Given the description of an element on the screen output the (x, y) to click on. 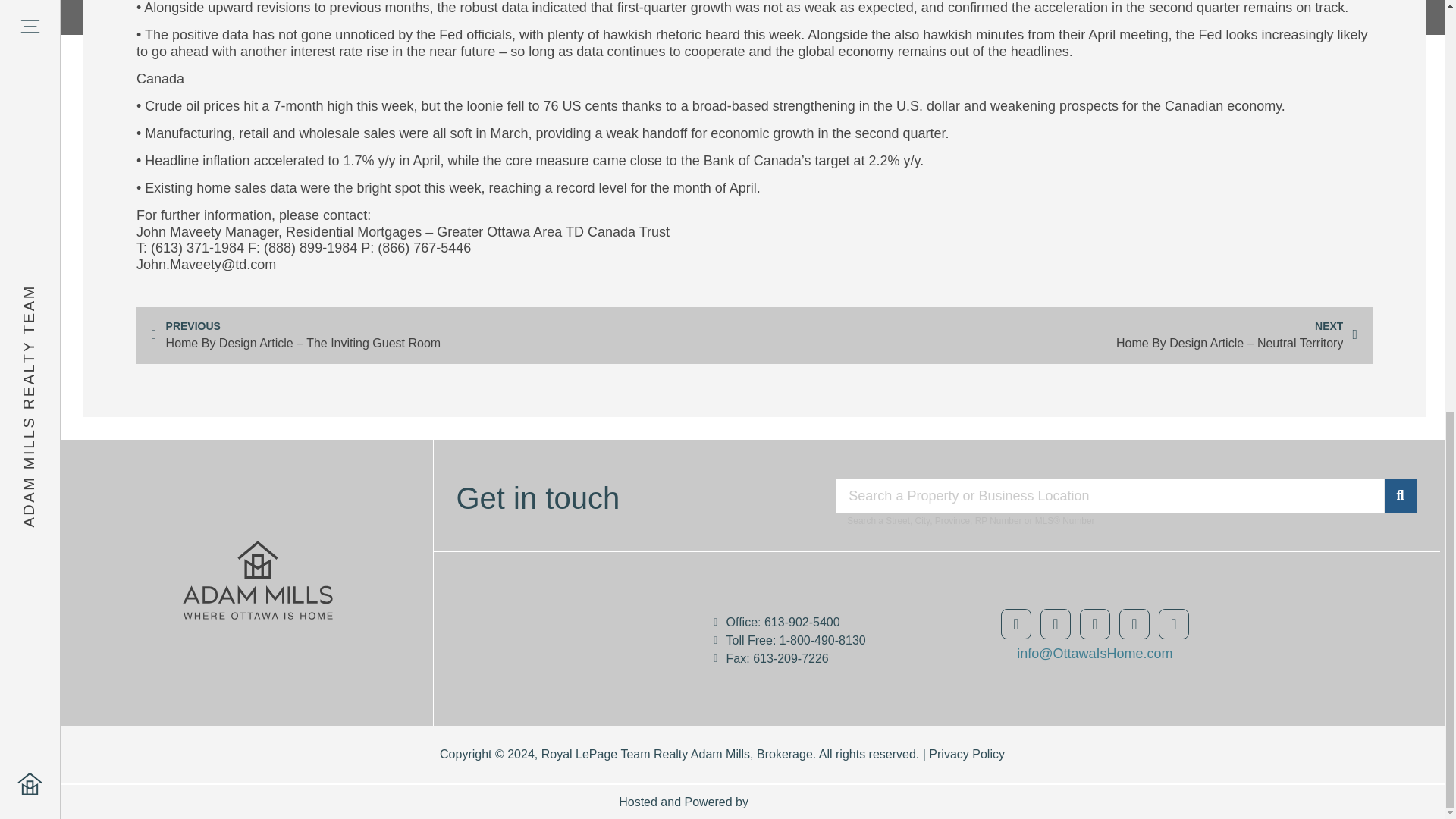
Toll Free: 1-800-490-8130 (822, 640)
Adam Mills Realty Team (586, 632)
Office: 613-902-5400 (822, 622)
Fax: 613-209-7226 (822, 658)
